Given the description of an element on the screen output the (x, y) to click on. 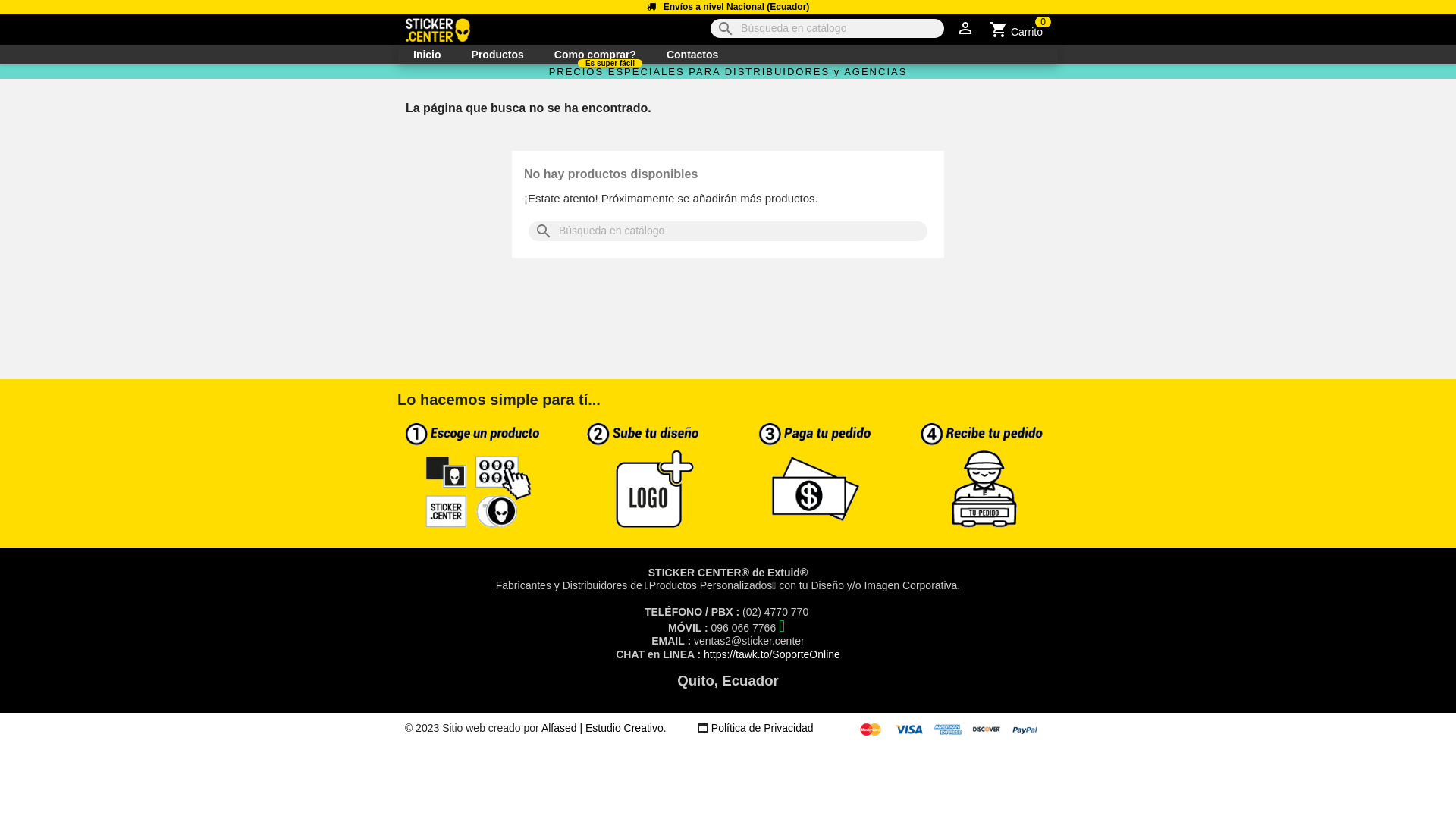
Productos Element type: text (497, 54)
Como comprar? Element type: text (595, 54)
Contactos Element type: text (692, 54)
Alfased | Estudio Creativo Element type: text (602, 727)
https://tawk.to/SoporteOnline Element type: text (771, 654)
Inicio Element type: text (427, 54)
